Given the description of an element on the screen output the (x, y) to click on. 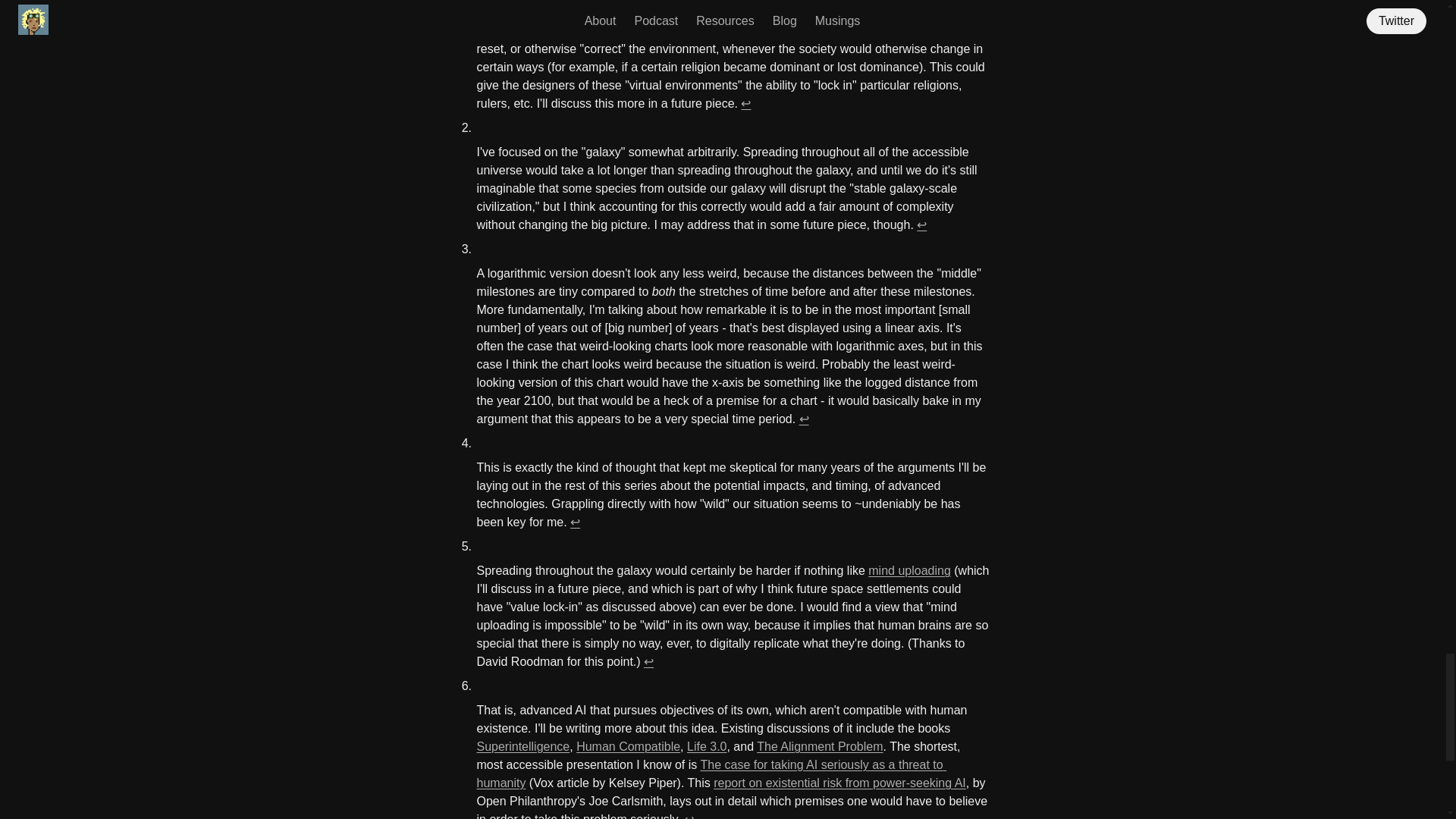
The case for taking AI seriously as a threat to humanity (711, 773)
The Alignment Problem (819, 746)
report on existential risk from power-seeking AI (839, 782)
mind uploading (908, 570)
Human Compatible (627, 746)
Superintelligence (522, 746)
mind uploads (639, 11)
Life 3.0 (706, 746)
